Given the description of an element on the screen output the (x, y) to click on. 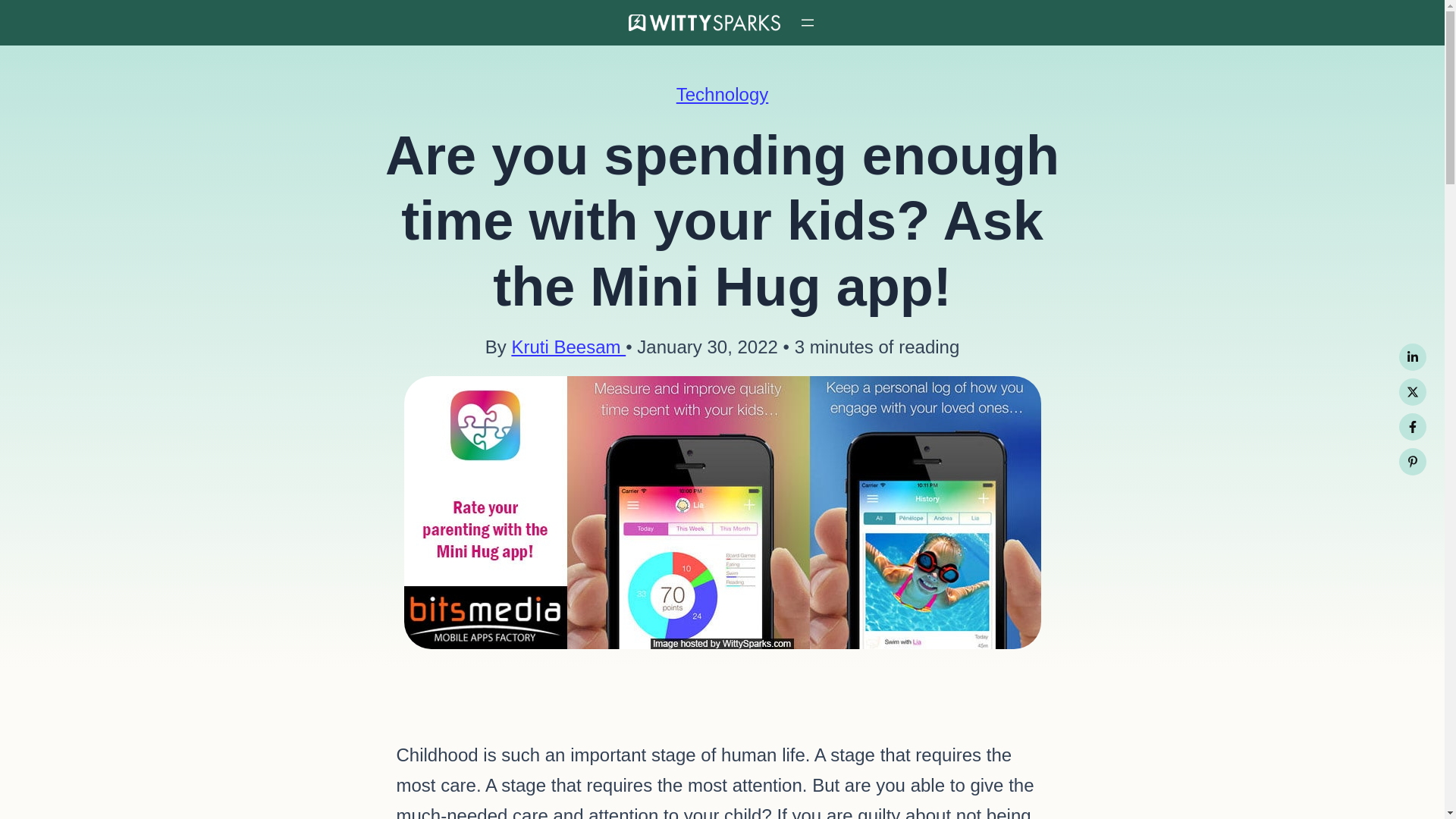
View all posts by Kruti Beesam (568, 346)
Kruti Beesam (568, 346)
Technology (722, 94)
